Given the description of an element on the screen output the (x, y) to click on. 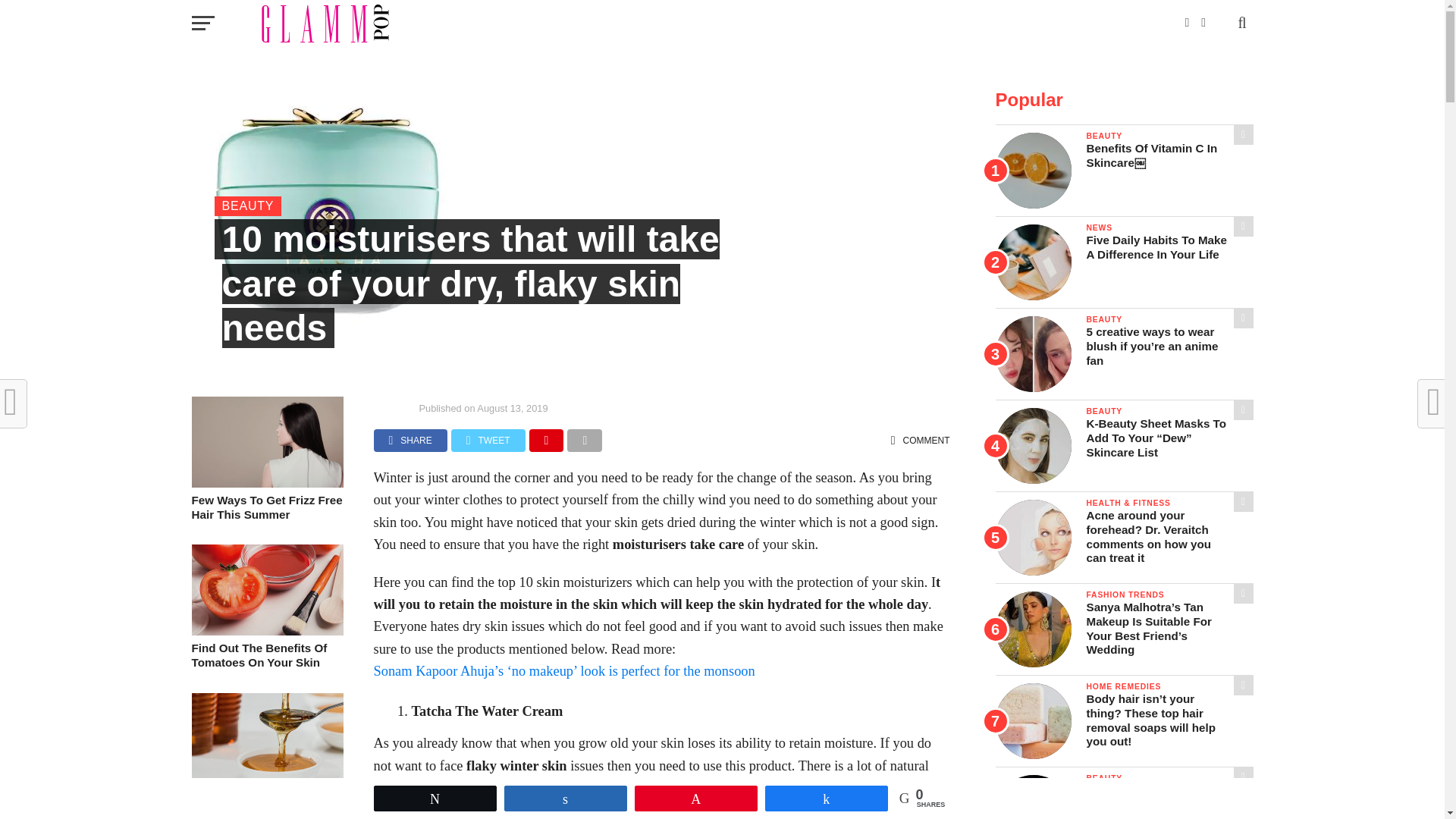
Few Ways To Get Frizz Free Hair This Summer (266, 482)
Few Ways To Get Frizz Free Hair This Summer (266, 507)
Guide On How To Incorporate Honey Into Your Skincare (266, 804)
Find Out The Benefits Of Tomatoes On Your Skin (266, 655)
Find Out The Benefits Of Tomatoes On Your Skin (266, 631)
Guide On How To Incorporate Honey Into Your Skincare (266, 779)
